Given the description of an element on the screen output the (x, y) to click on. 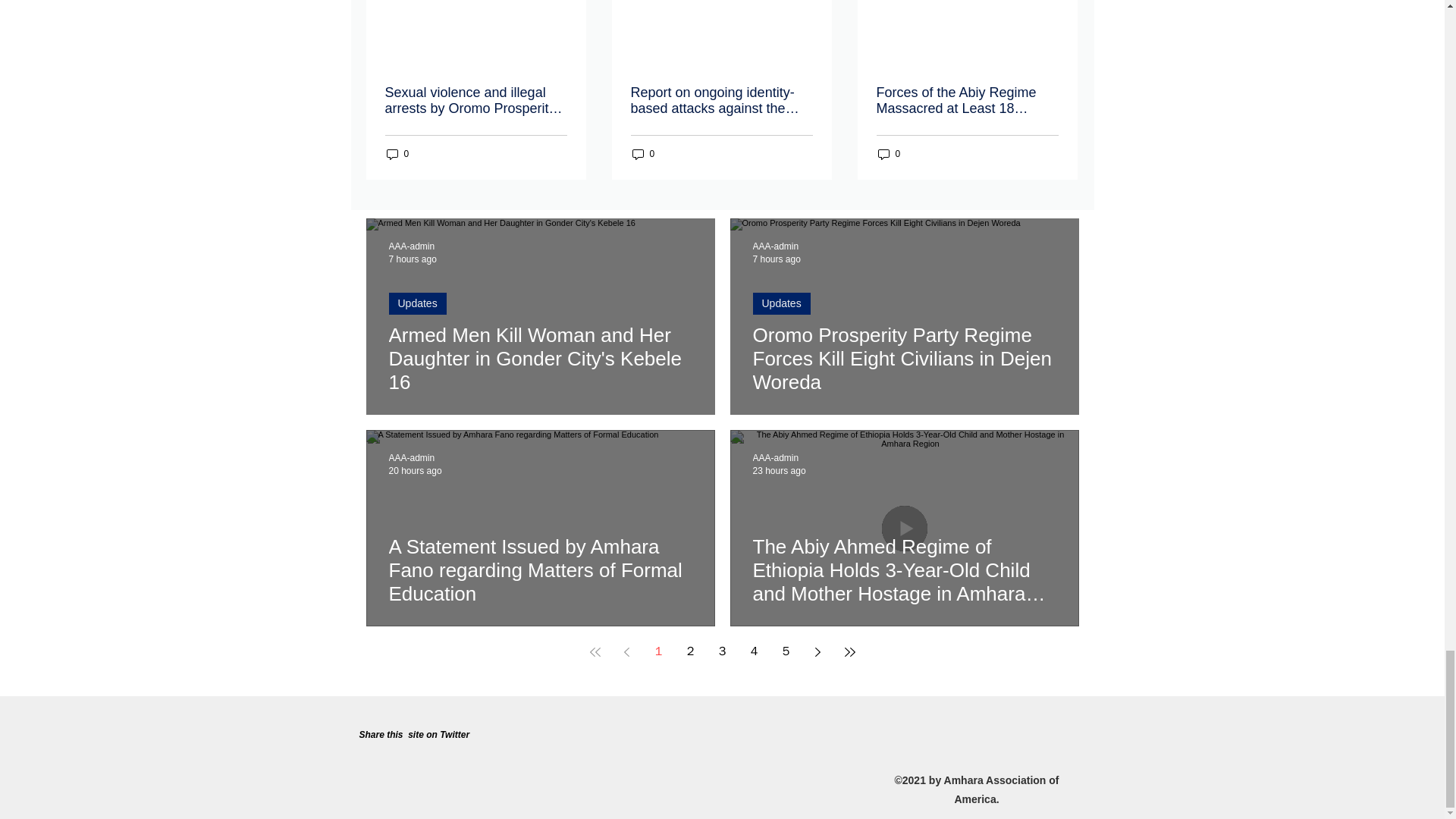
AAA-admin (410, 245)
23 hours ago (778, 470)
7 hours ago (411, 258)
Twitter Follow (520, 755)
AAA-admin (774, 457)
AAA-admin (774, 245)
20 hours ago (414, 470)
AAA-admin (410, 457)
Twitter Tweet (384, 757)
7 hours ago (775, 258)
